Given the description of an element on the screen output the (x, y) to click on. 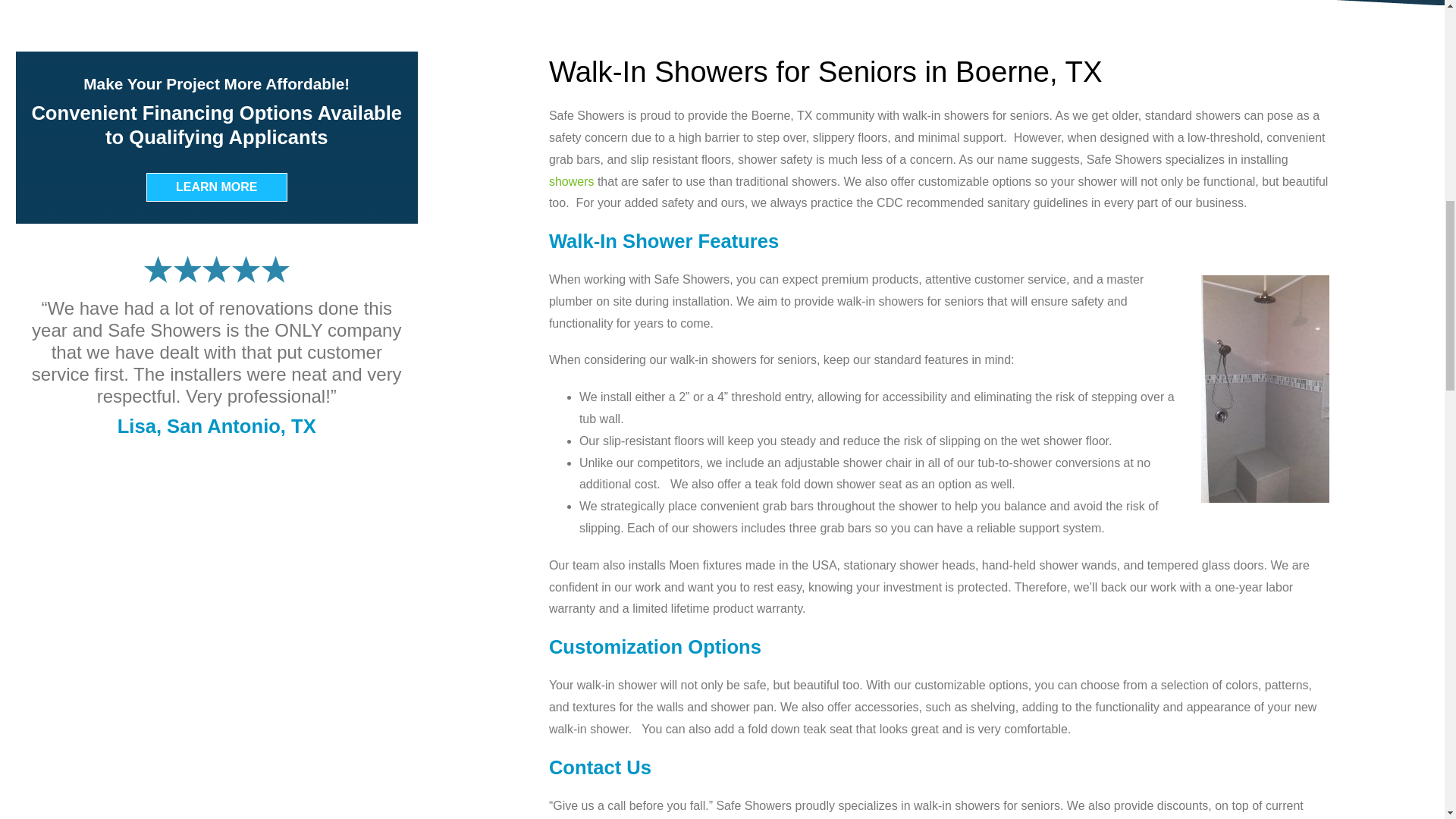
showers (571, 181)
LEARN MORE (216, 186)
